Given the description of an element on the screen output the (x, y) to click on. 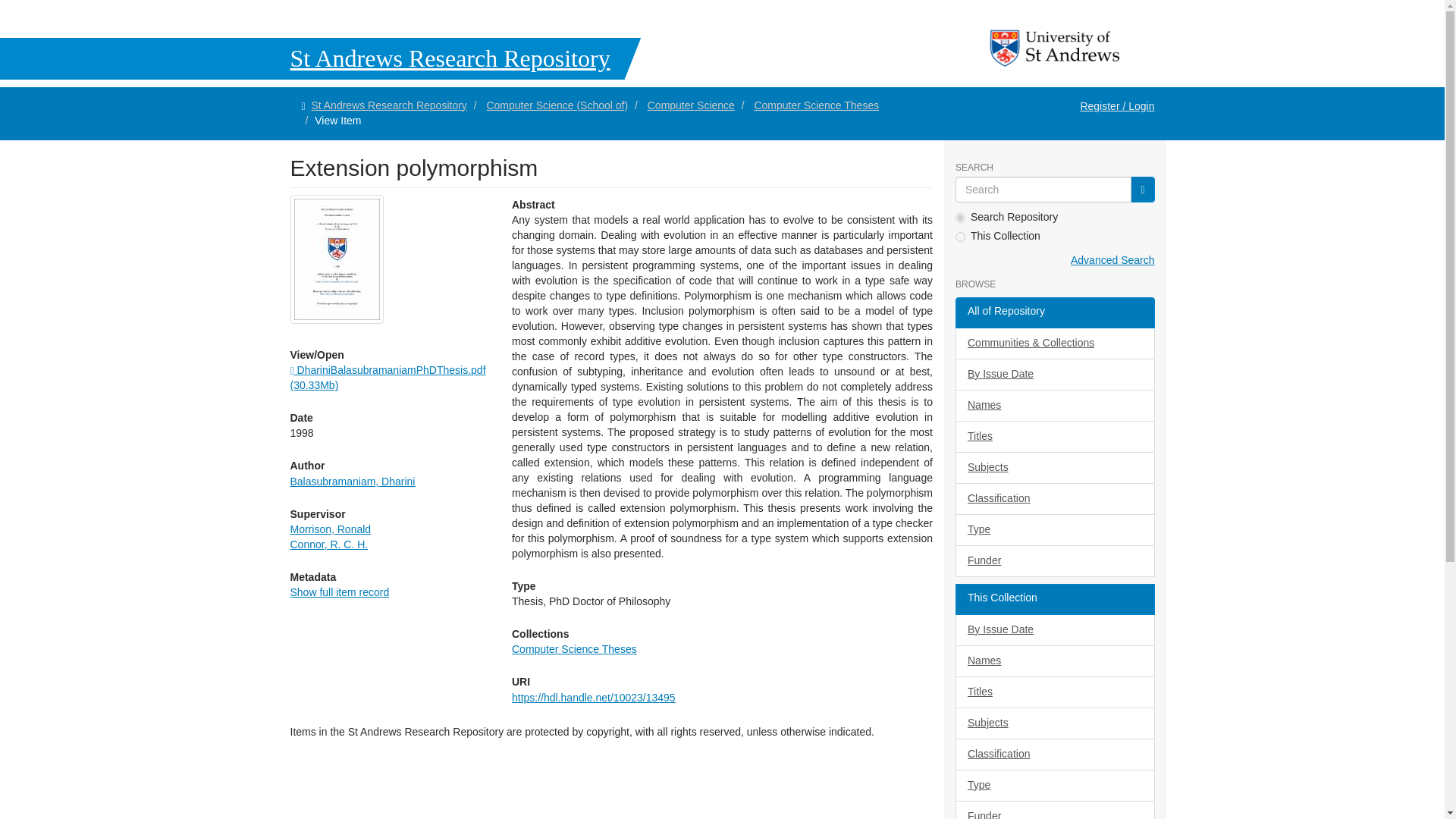
Show full item record (338, 592)
Classification (1054, 499)
Type (1054, 530)
Connor, R. C. H. (328, 544)
St Andrews Research Repository (388, 105)
Subjects (1054, 468)
Names (1054, 405)
By Issue Date (1054, 374)
Computer Science Theses (816, 105)
Computer Science Theses (574, 648)
